Given the description of an element on the screen output the (x, y) to click on. 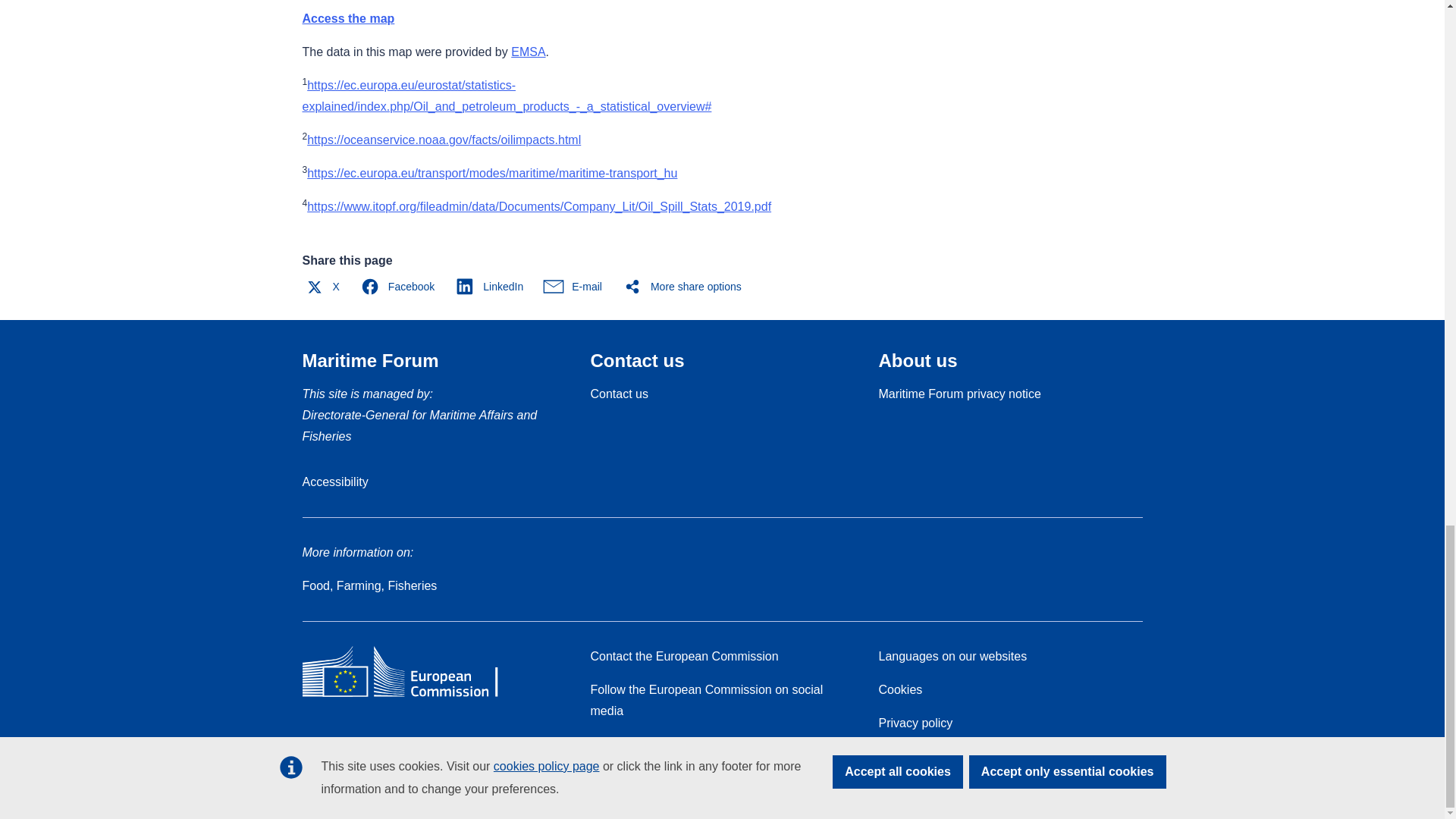
E-mail (576, 286)
Facebook (401, 286)
Maritime Forum (369, 360)
Access the map (347, 18)
More share options (685, 286)
European Commission (411, 696)
LinkedIn (492, 286)
Accessibility (334, 481)
Contact us (618, 393)
EMSA (527, 51)
X (324, 286)
